Given the description of an element on the screen output the (x, y) to click on. 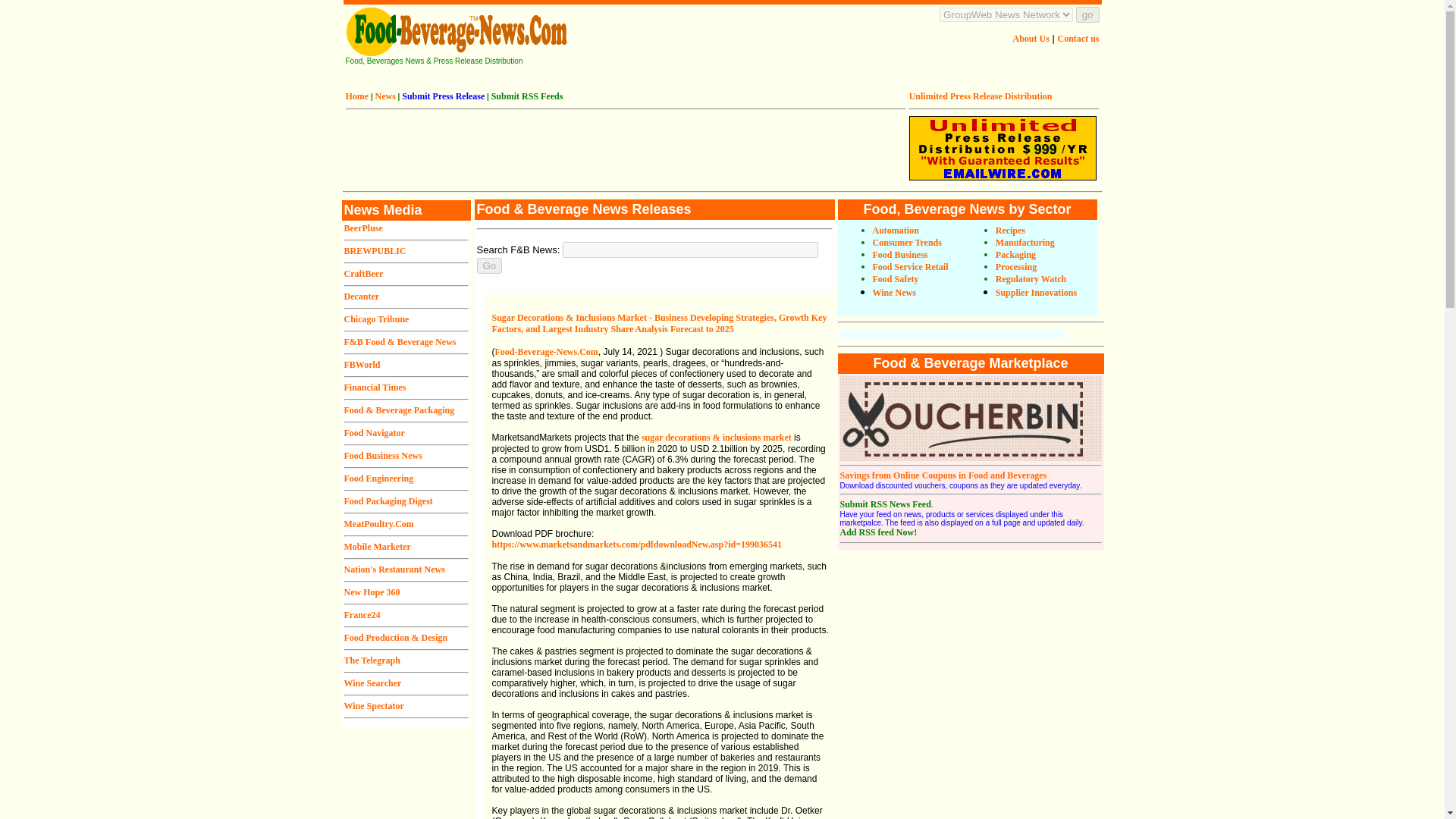
Food Engineering (378, 478)
Mobile Marketer (376, 546)
Decanter (361, 296)
BREWPUBLIC (374, 250)
About Us (1031, 38)
Submit RSS News Feed (885, 503)
go (1087, 14)
Unlimited Press Release Distribution (980, 95)
FBWorld (361, 364)
Wine Spectator (373, 706)
Chicago Tribune (376, 318)
The Telegraph (371, 660)
News (385, 95)
Home (357, 95)
New Hope 360 (371, 592)
